Given the description of an element on the screen output the (x, y) to click on. 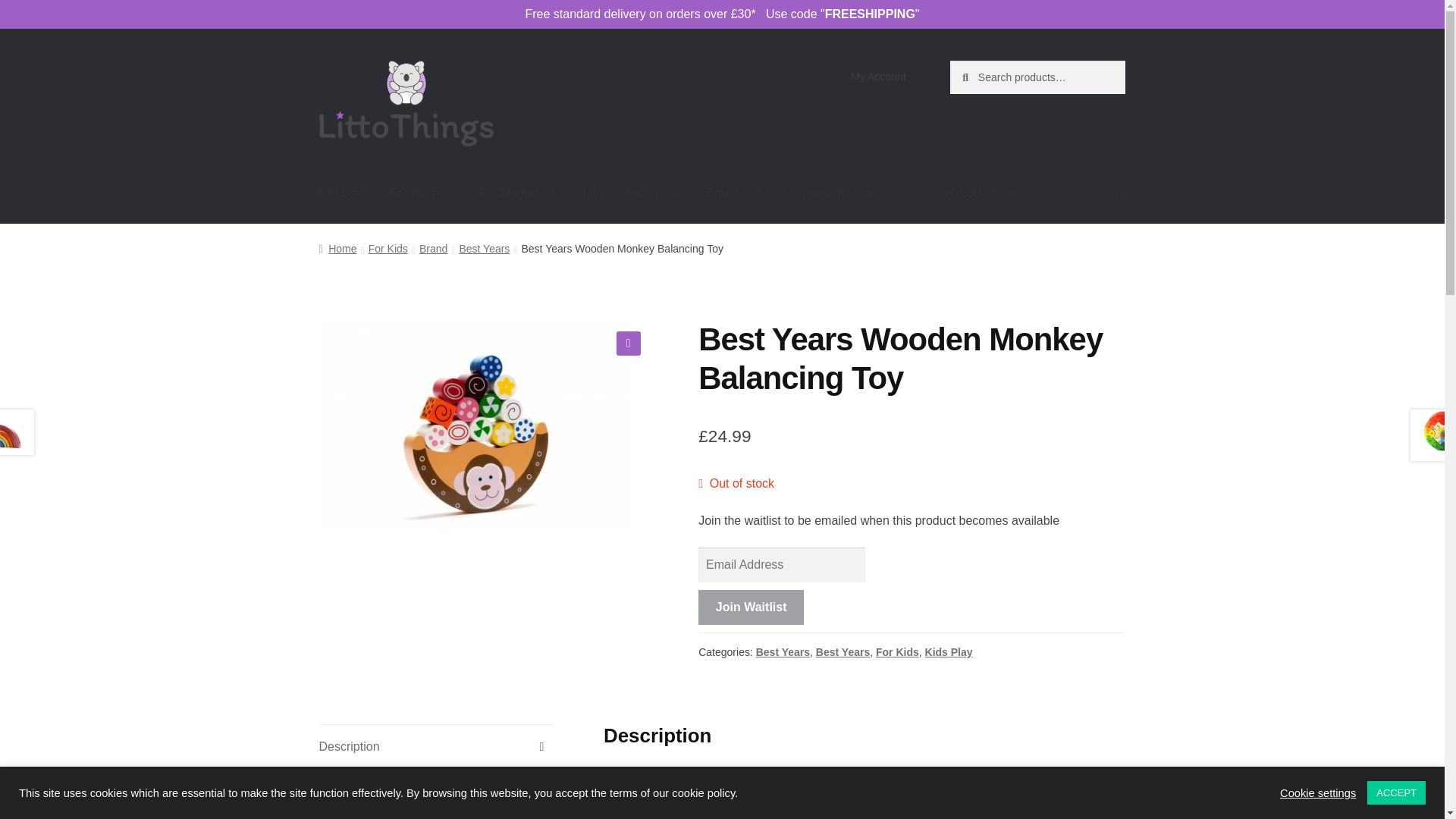
For Kids (420, 192)
Gift Box (340, 192)
Wooden-monkey-balancing-toy-500x333 (476, 425)
My Account (878, 76)
For Mother (517, 192)
Litto Collection (630, 192)
Brands (734, 192)
View your shopping cart (1037, 192)
